Given the description of an element on the screen output the (x, y) to click on. 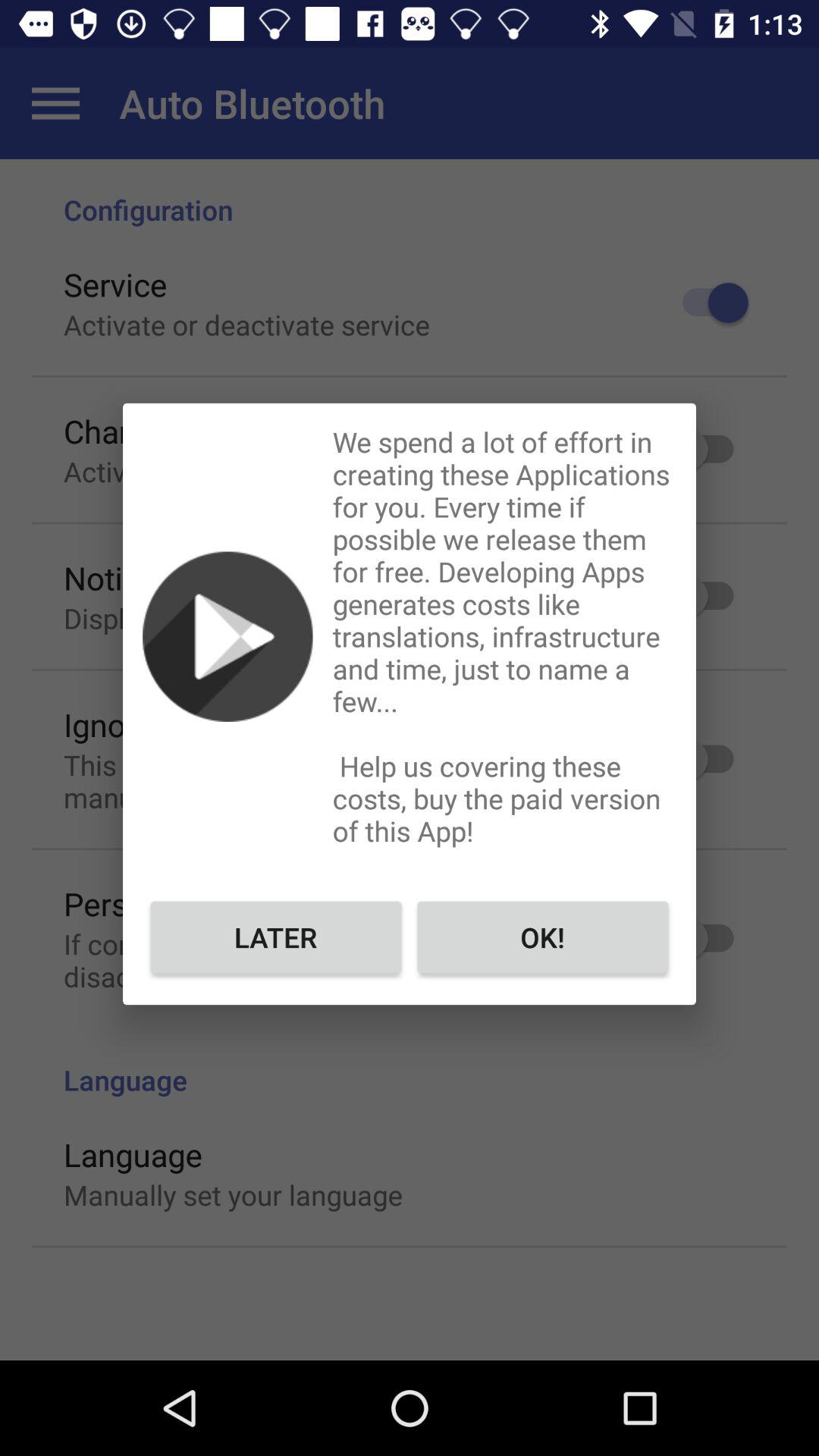
turn on button next to ok! item (275, 937)
